Given the description of an element on the screen output the (x, y) to click on. 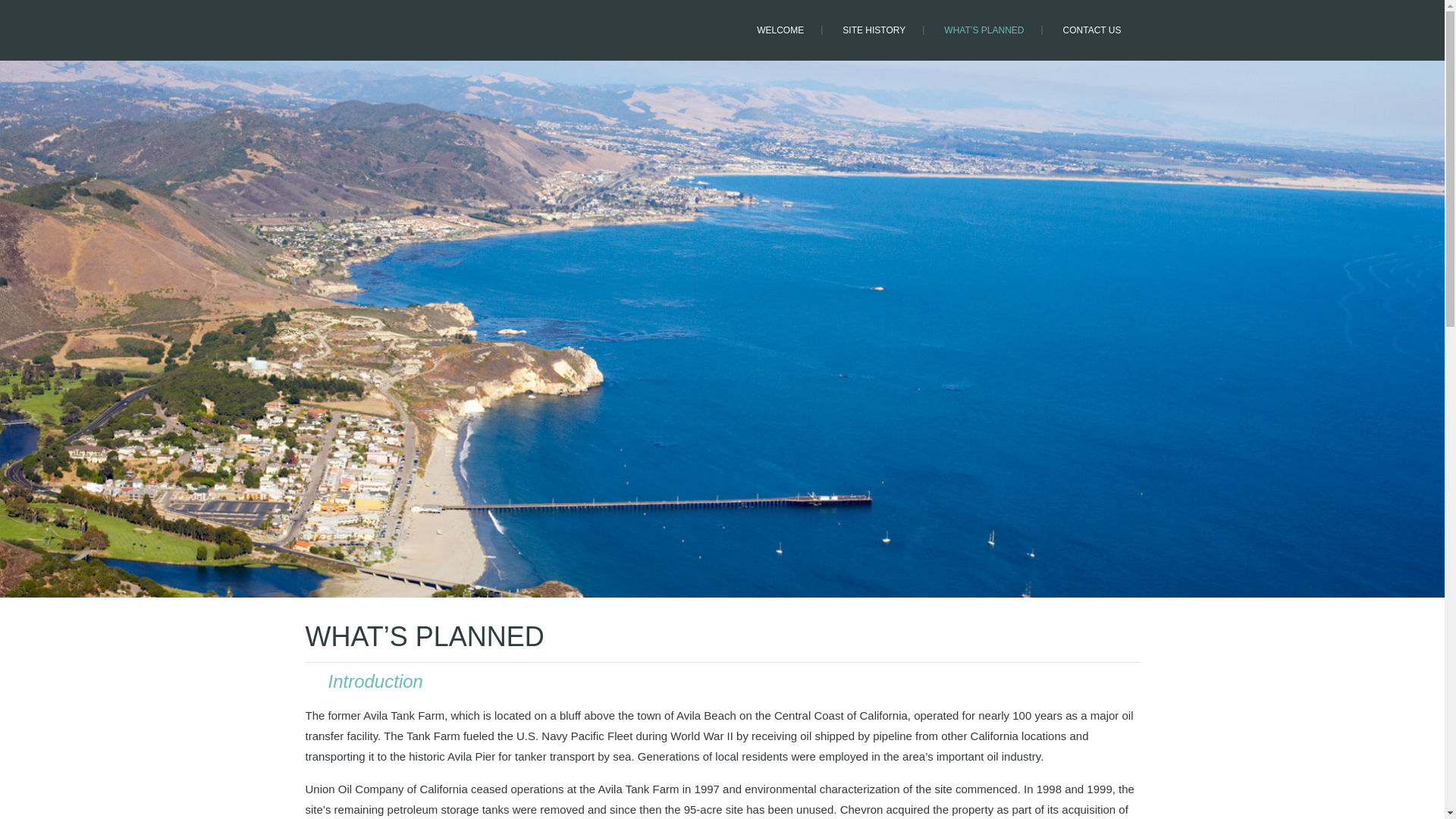
WELCOME (780, 30)
CONTACT US (1092, 30)
SITE HISTORY (873, 30)
